Given the description of an element on the screen output the (x, y) to click on. 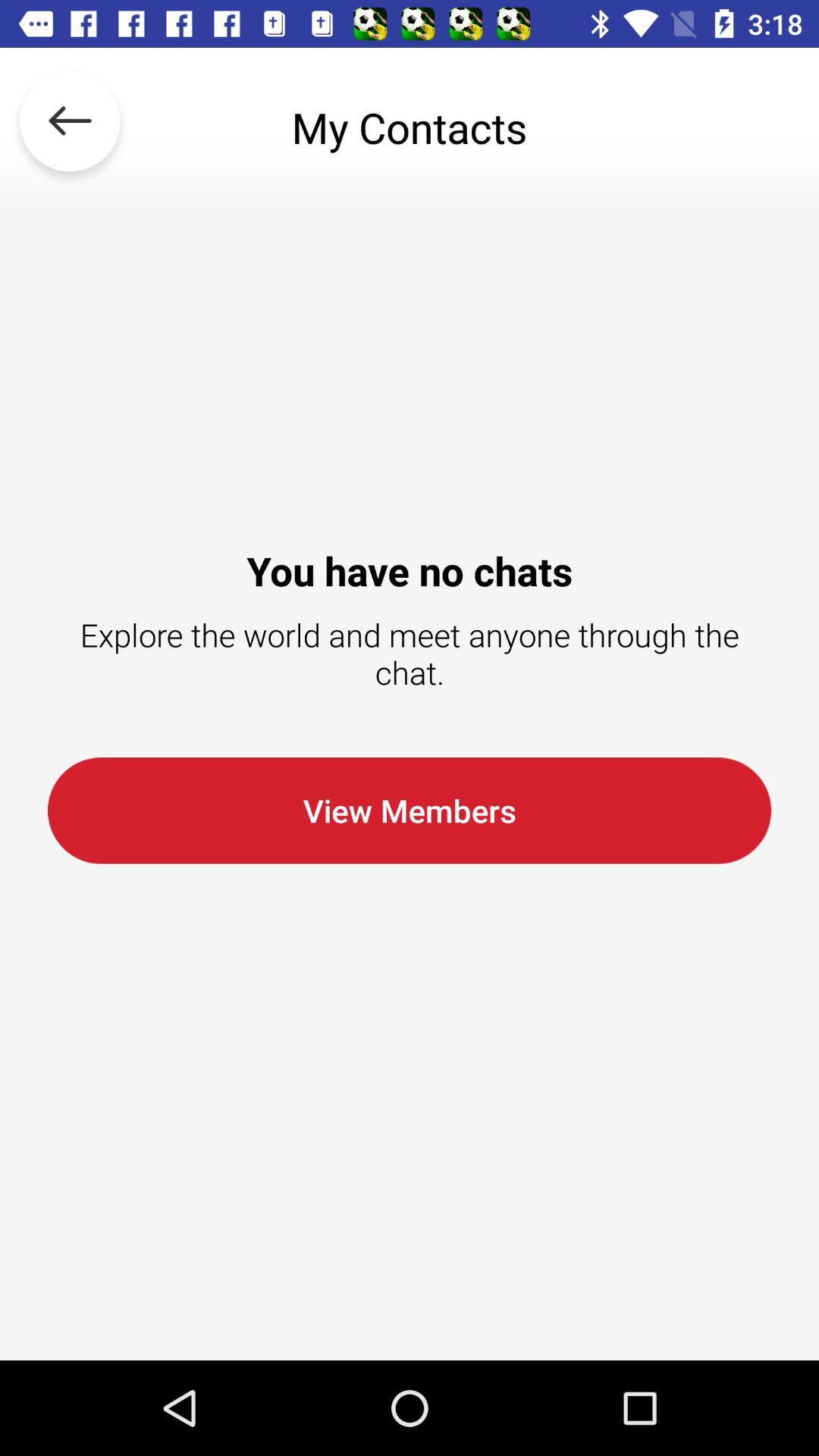
go back button (69, 127)
